Given the description of an element on the screen output the (x, y) to click on. 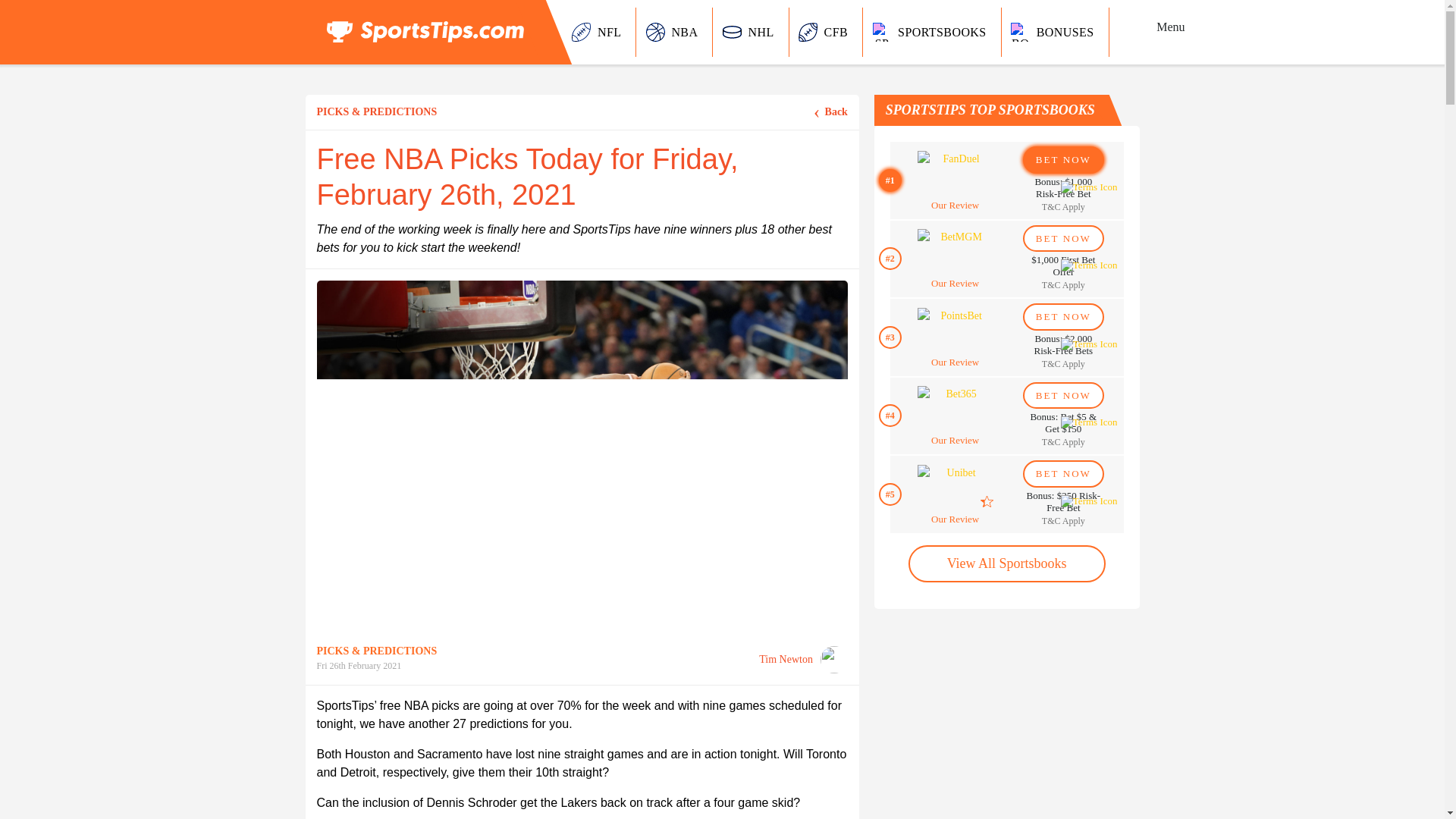
NFL (599, 32)
NBA (674, 32)
SPORTSBOOKS (932, 32)
Menu (1170, 26)
BONUSES (1055, 32)
CFB (826, 32)
NHL (751, 32)
